Given the description of an element on the screen output the (x, y) to click on. 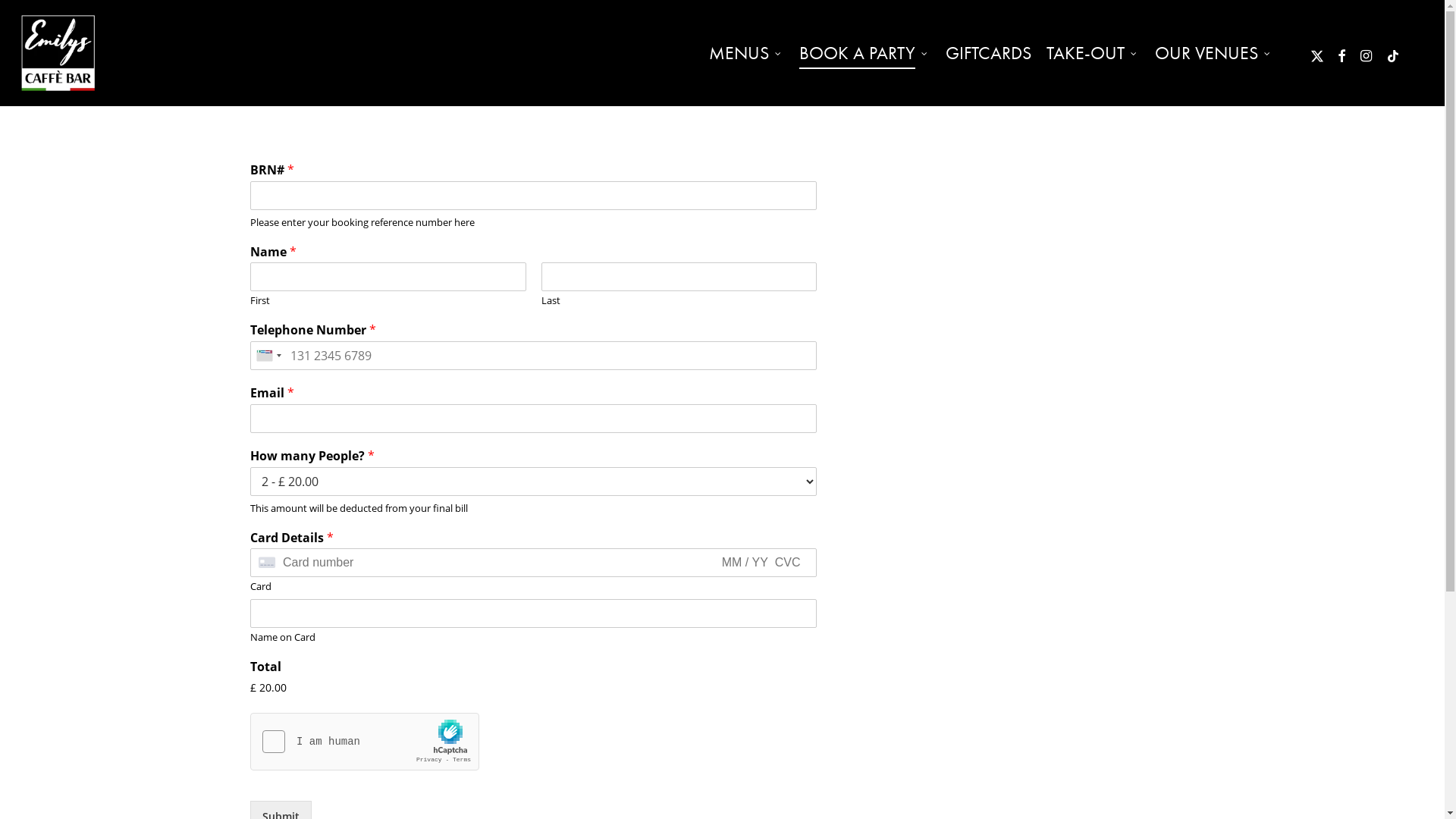
facebook Element type: text (1341, 52)
TAKE-OUT Element type: text (1092, 52)
instagram Element type: text (1365, 52)
x-twitter Element type: text (1316, 52)
OUR VENUES Element type: text (1213, 52)
GIFTCARDS Element type: text (988, 52)
tiktok Element type: text (1392, 52)
BOOK A PARTY Element type: text (864, 52)
MENUS Element type: text (746, 52)
Widget containing checkbox for hCaptcha security challenge Element type: hover (365, 741)
Secure card payment input frame Element type: hover (533, 562)
